Given the description of an element on the screen output the (x, y) to click on. 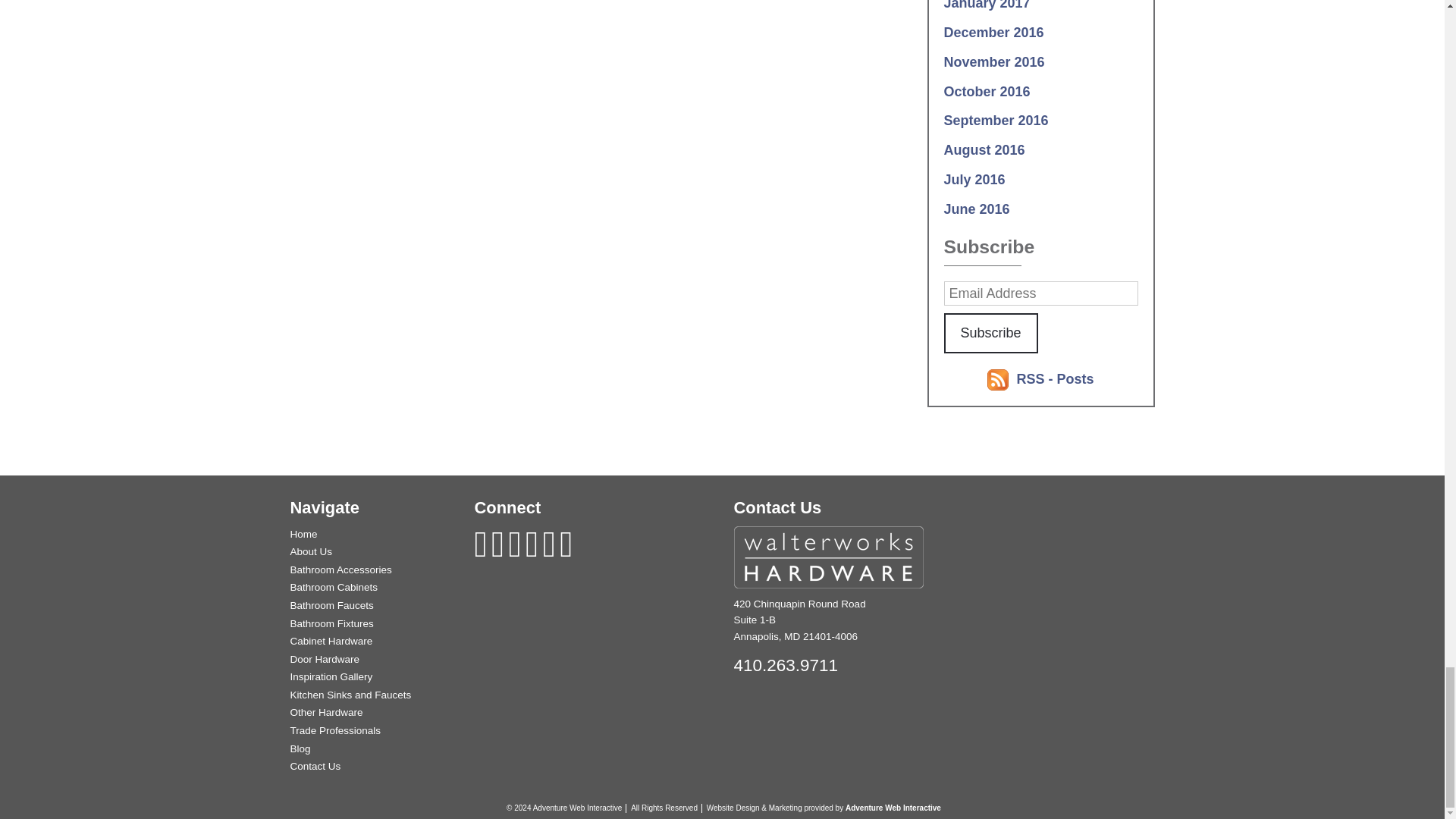
Subscribe to Posts (1054, 378)
Subscribe (989, 332)
WalterWorks Hardware (828, 557)
Subscribe to Posts (999, 378)
